Given the description of an element on the screen output the (x, y) to click on. 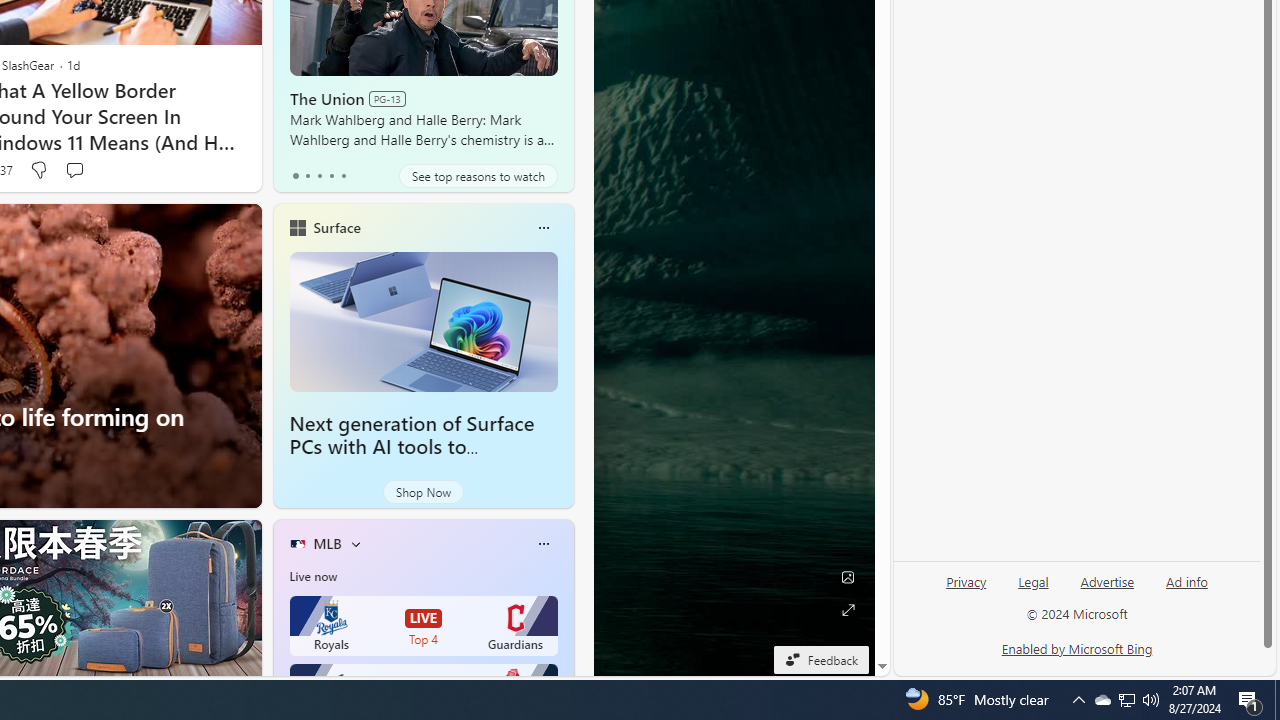
More interests (355, 543)
Surface (336, 227)
tab-1 (306, 175)
See top reasons to watch (478, 175)
Ad info (1186, 589)
Royals LIVE Top 4 Guardians (423, 625)
Shop Now (422, 491)
tab-4 (342, 175)
MLB (327, 543)
Legal (1033, 582)
